Given the description of an element on the screen output the (x, y) to click on. 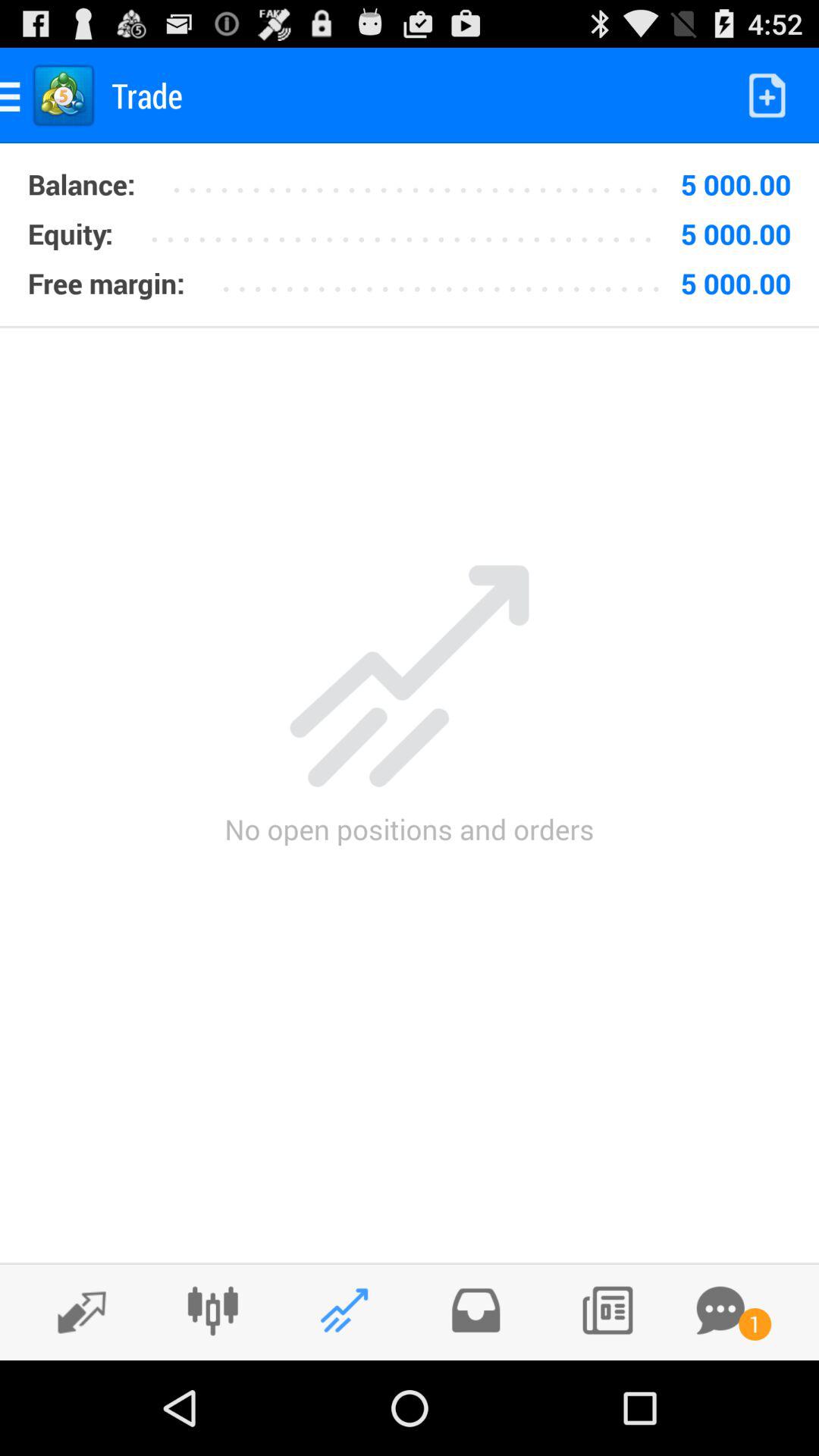
select item above equity: icon (81, 184)
